Given the description of an element on the screen output the (x, y) to click on. 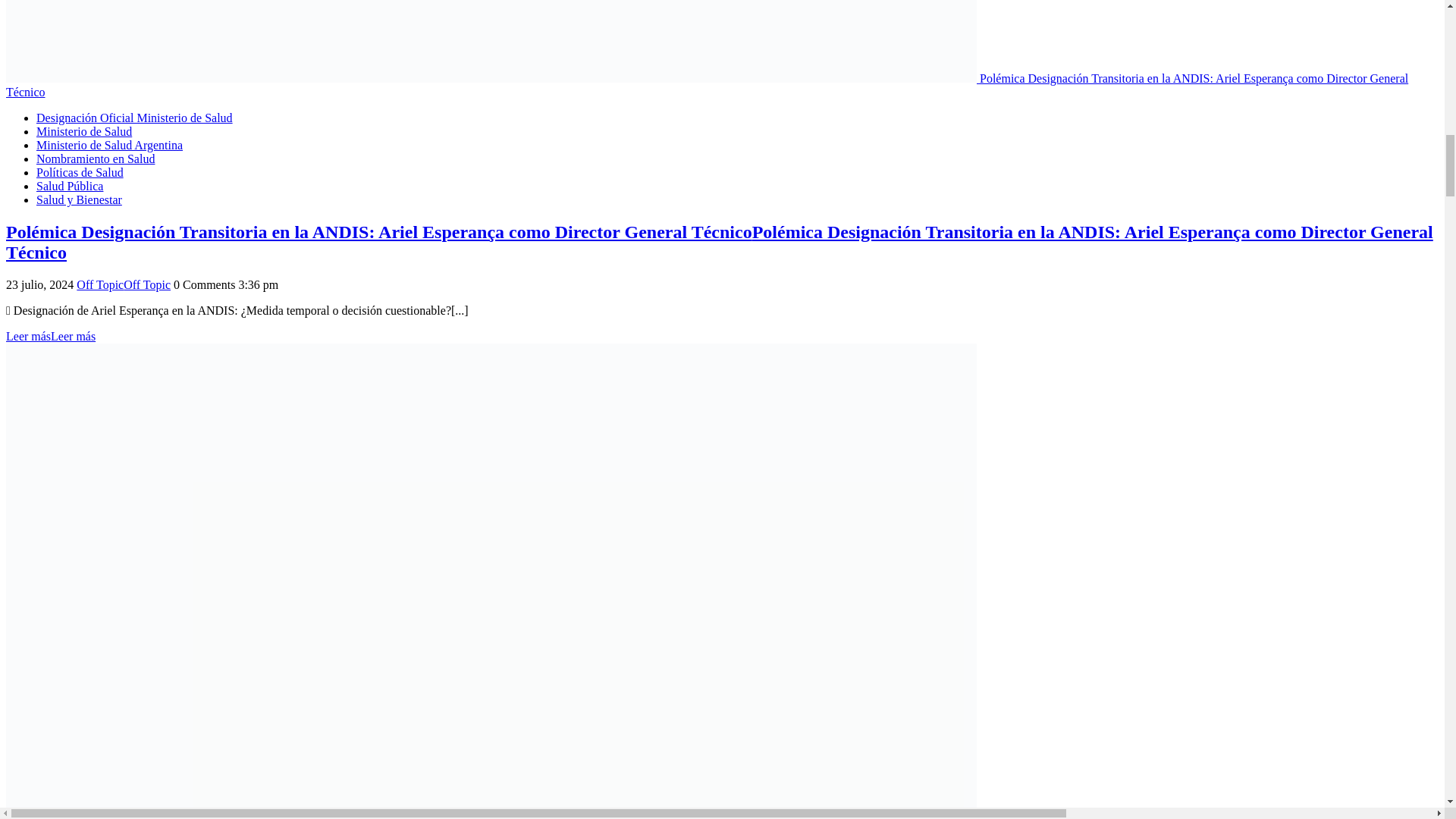
Ministerio de Salud (84, 131)
Nombramiento en Salud (95, 158)
Ministerio de Salud Argentina (109, 144)
